Given the description of an element on the screen output the (x, y) to click on. 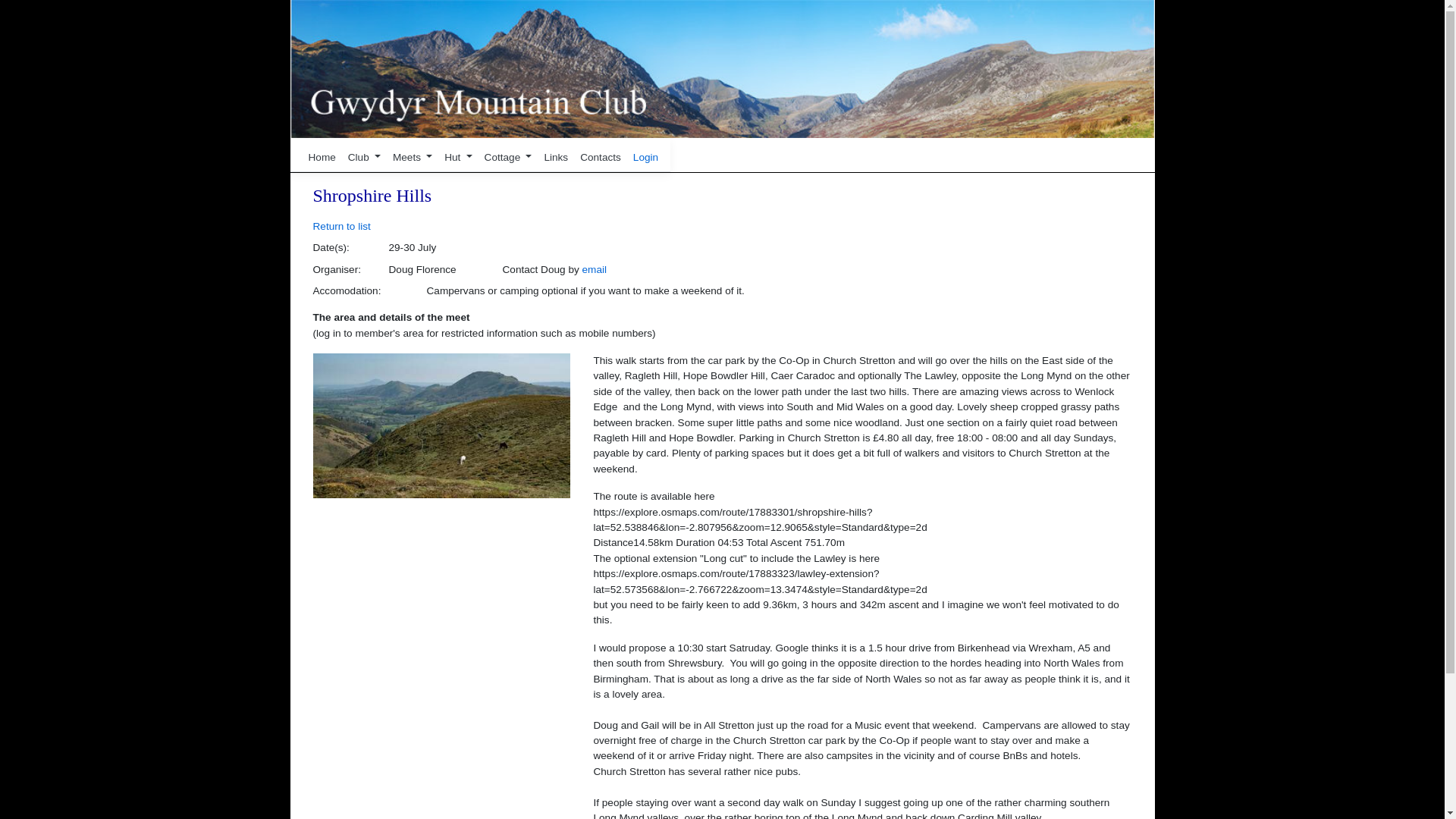
Login (645, 156)
Hut (457, 157)
Cottage (508, 157)
Home (320, 157)
Contacts (600, 157)
email (594, 269)
Return to list (341, 225)
Links (555, 157)
Meets (412, 157)
Club (364, 157)
